Given the description of an element on the screen output the (x, y) to click on. 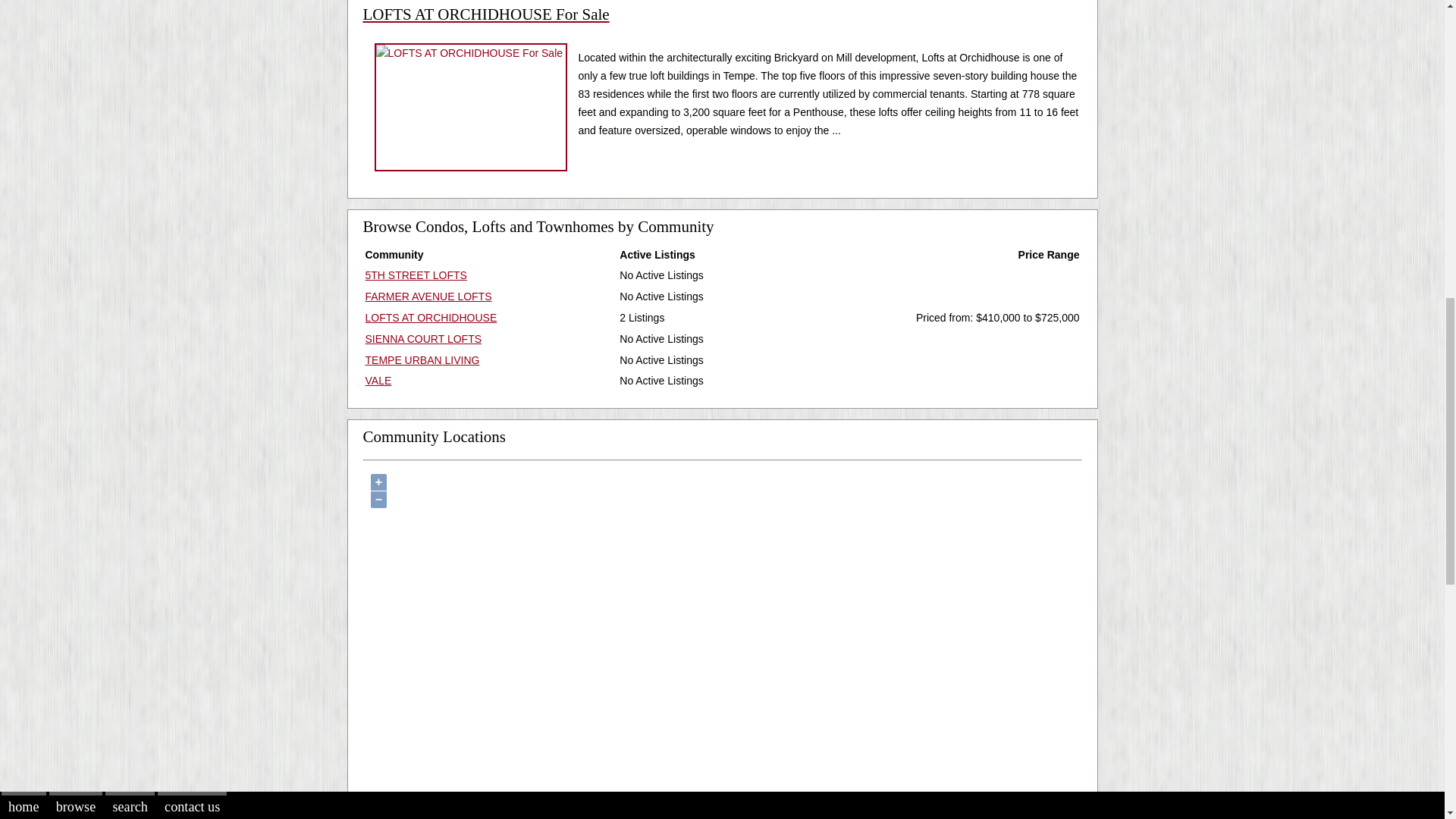
TEMPE URBAN LIVING (422, 359)
FARMER AVENUE LOFTS Condos For Sale (428, 296)
VALE (378, 380)
LOFTS AT ORCHIDHOUSE For Sale (721, 24)
5TH STREET LOFTS Condos For Sale (416, 275)
Zoom in (378, 482)
VALE Condos For Sale (378, 380)
5TH STREET LOFTS (416, 275)
SIENNA COURT LOFTS Condos For Sale (423, 338)
LOFTS AT ORCHIDHOUSE Condos For Sale (431, 317)
